Given the description of an element on the screen output the (x, y) to click on. 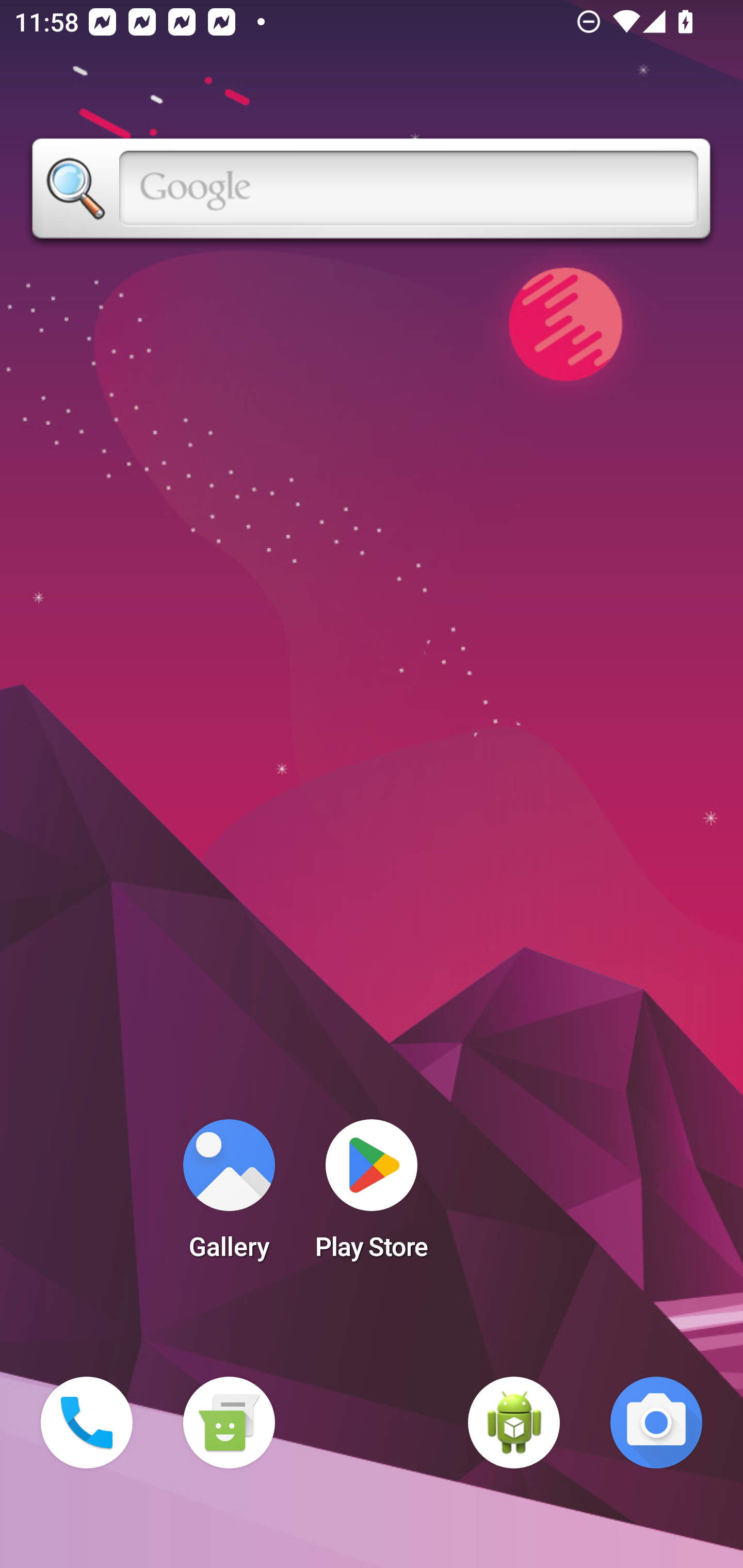
Gallery (228, 1195)
Play Store (371, 1195)
Phone (86, 1422)
Messaging (228, 1422)
WebView Browser Tester (513, 1422)
Camera (656, 1422)
